Given the description of an element on the screen output the (x, y) to click on. 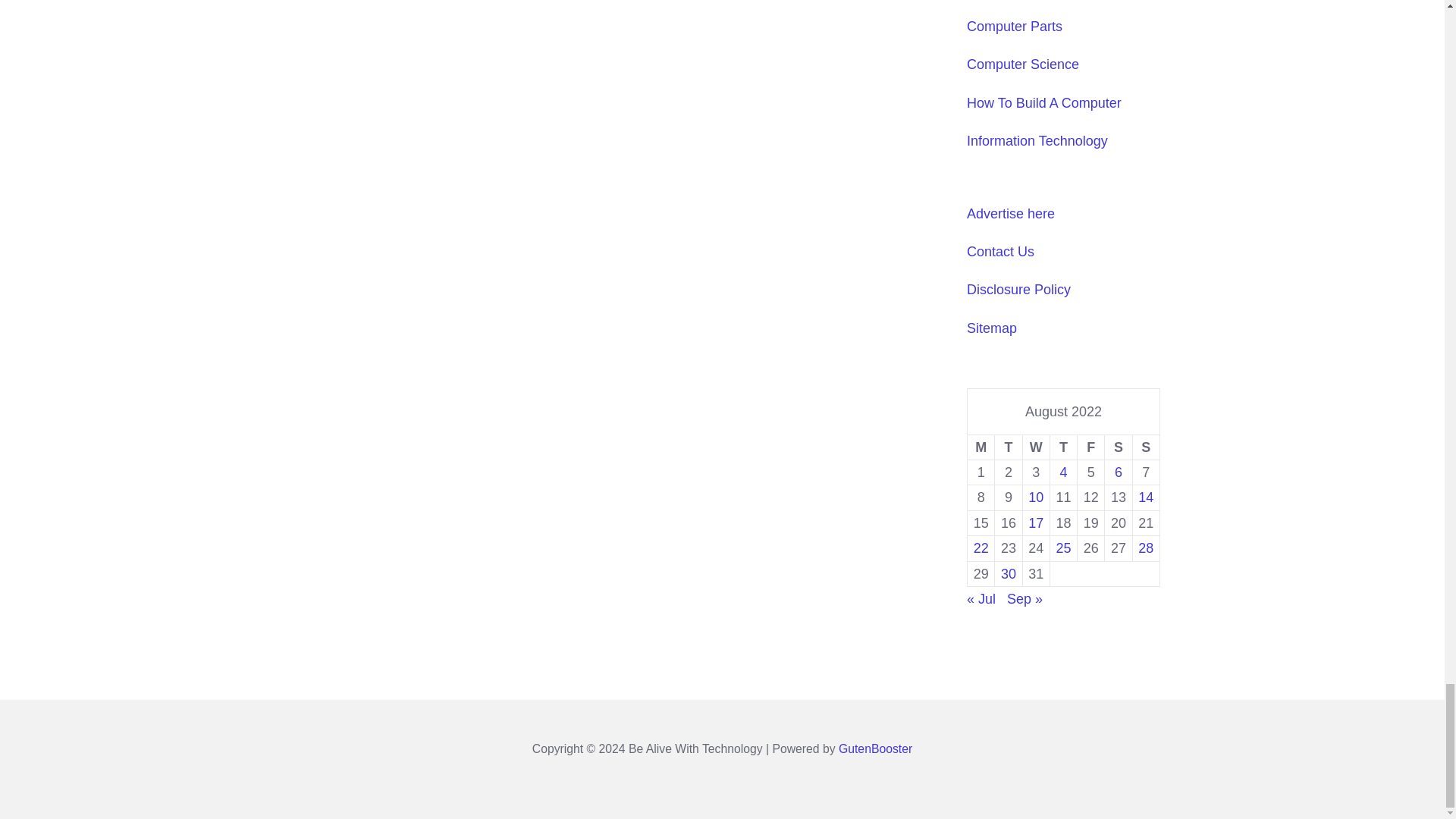
Wednesday (1035, 446)
Thursday (1063, 446)
Friday (1091, 446)
Tuesday (1008, 446)
Saturday (1118, 446)
Sunday (1145, 446)
Monday (981, 446)
